Given the description of an element on the screen output the (x, y) to click on. 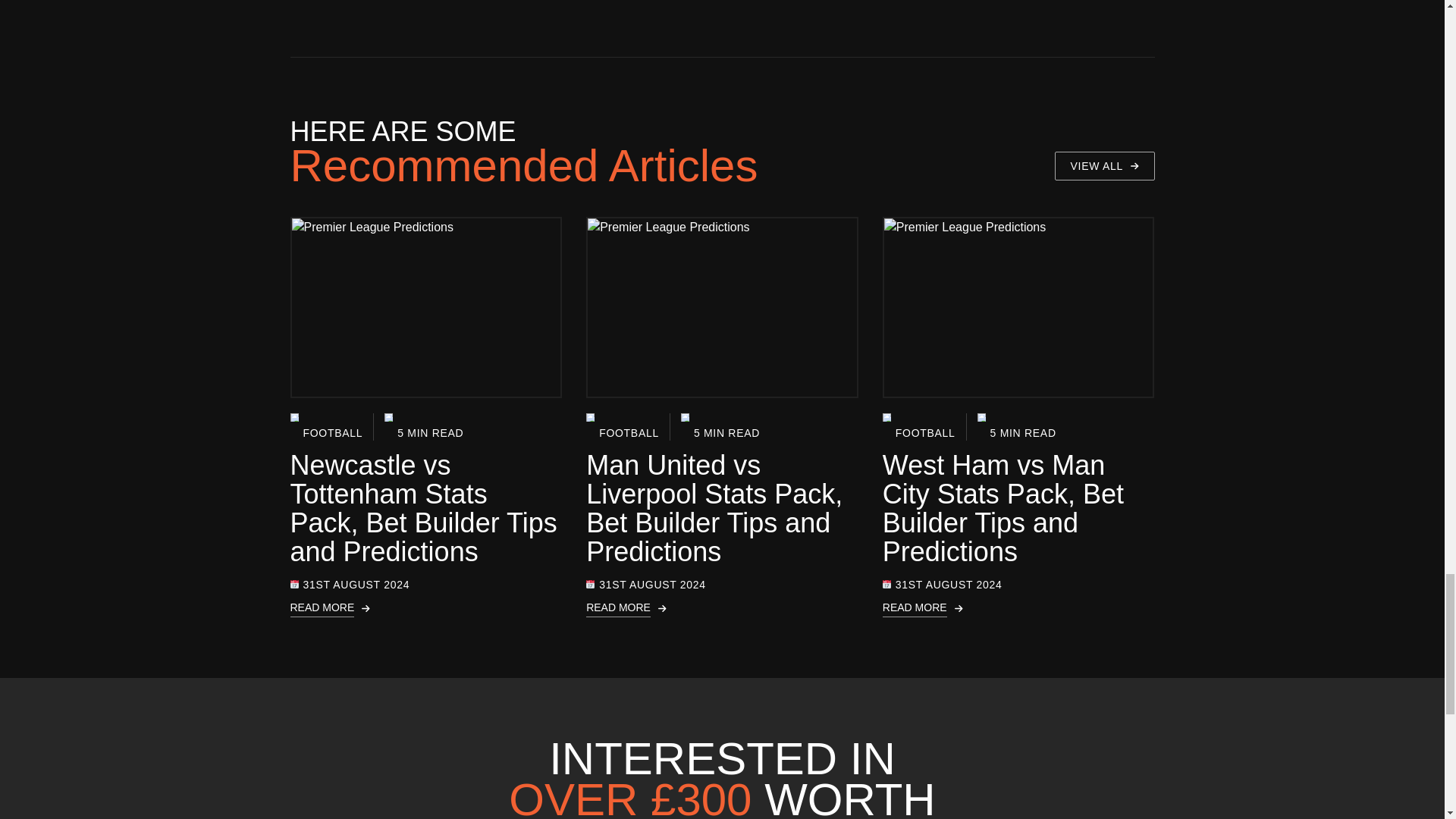
VIEW ALL (1104, 165)
READ MORE (425, 608)
